Given the description of an element on the screen output the (x, y) to click on. 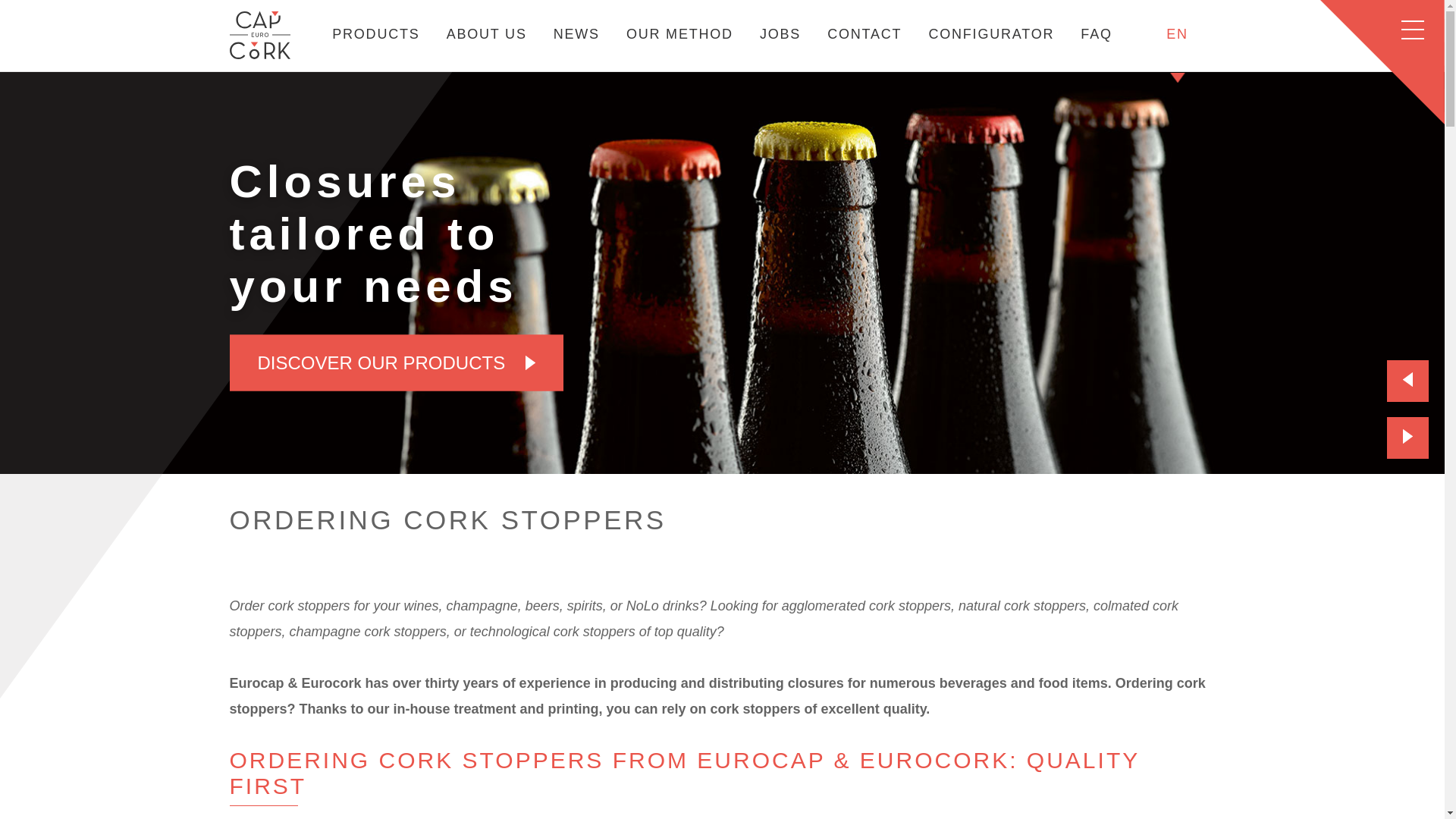
logo (258, 54)
PRODUCTS (375, 33)
logo (258, 34)
CONTACT (864, 33)
EN (1176, 33)
ABOUT US (486, 33)
OUR METHOD (679, 33)
CONFIGURATOR (991, 33)
DISCOVER OUR PRODUCTS (395, 362)
